Given the description of an element on the screen output the (x, y) to click on. 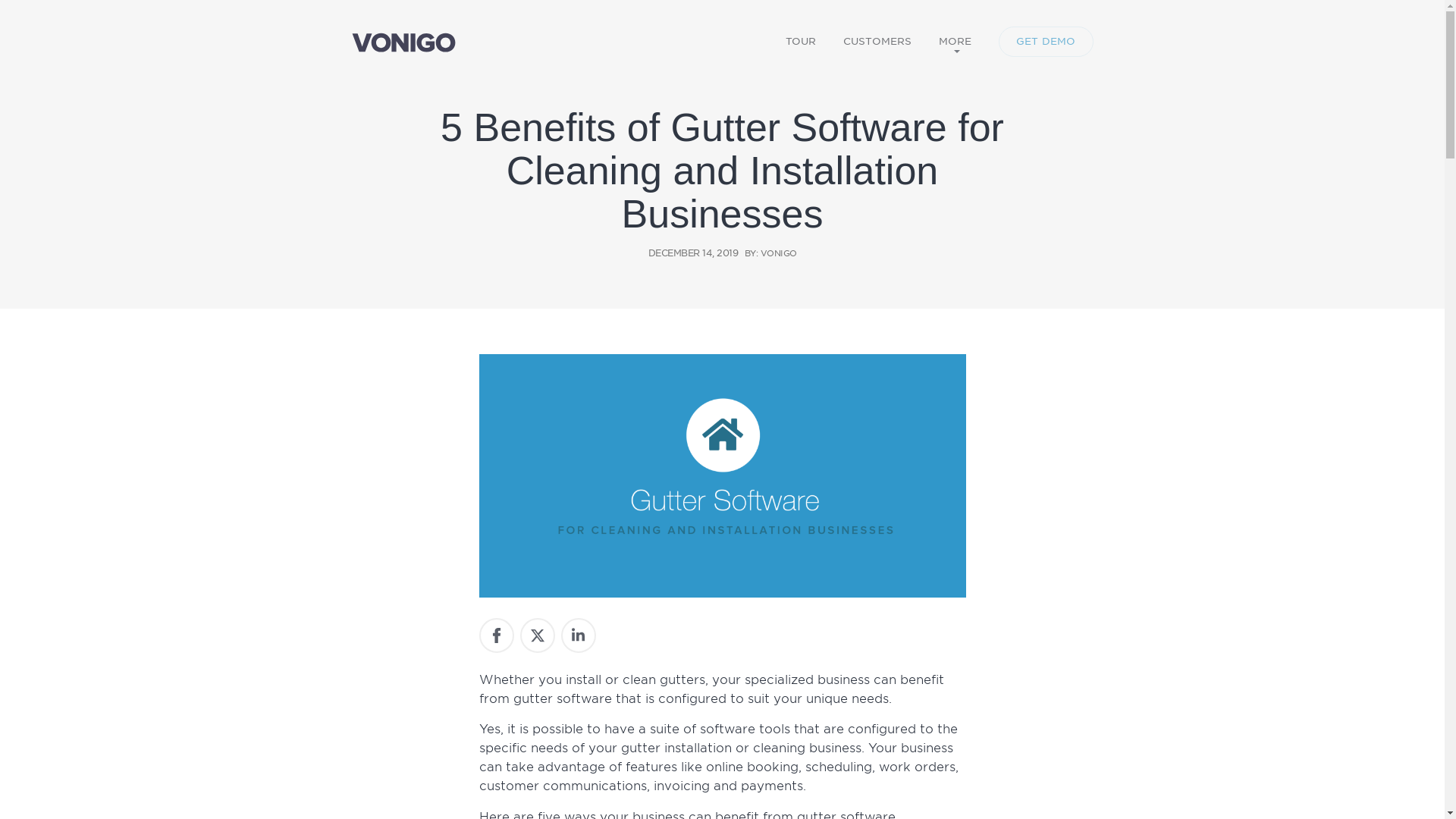
Posts by Vonigo (778, 253)
MORE (955, 41)
Share on Twitter (536, 635)
Share on Facebook (496, 635)
VONIGO (778, 253)
TOUR (801, 41)
GET DEMO (1045, 41)
CUSTOMERS (877, 41)
Share on LinkedIn (577, 635)
